Given the description of an element on the screen output the (x, y) to click on. 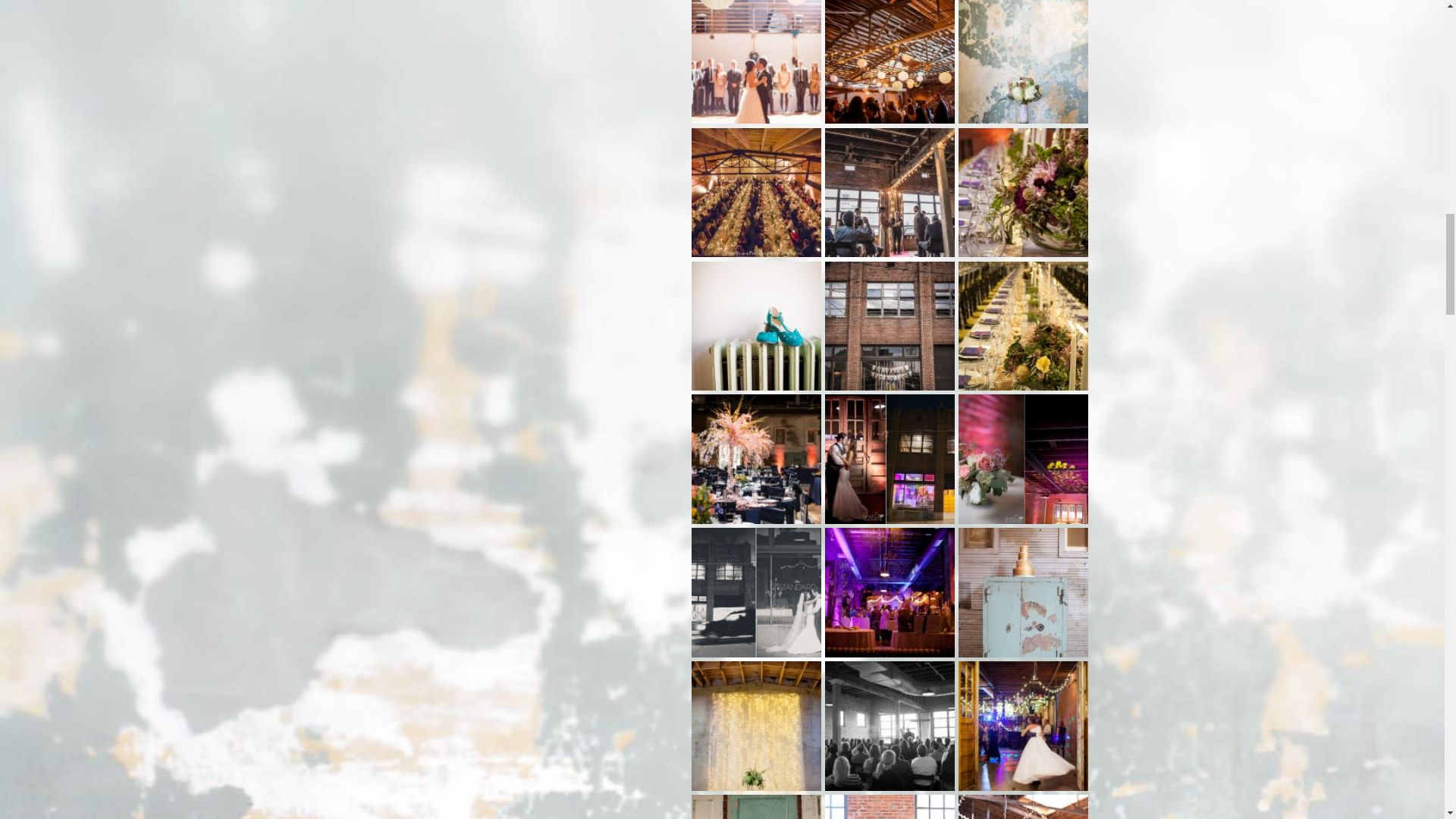
Downtown Knoxville wedding reception (890, 62)
Knoxville wedding first dance (756, 62)
Downtown Knoxville wedding venue (890, 458)
Knoxville wedding detail (756, 325)
00985 (890, 192)
00856 (1022, 325)
00876 (890, 325)
00867 (1022, 192)
Downtown Knoxville Wedding Bouquet (1022, 62)
Knoxville wedding reception (756, 458)
